Given the description of an element on the screen output the (x, y) to click on. 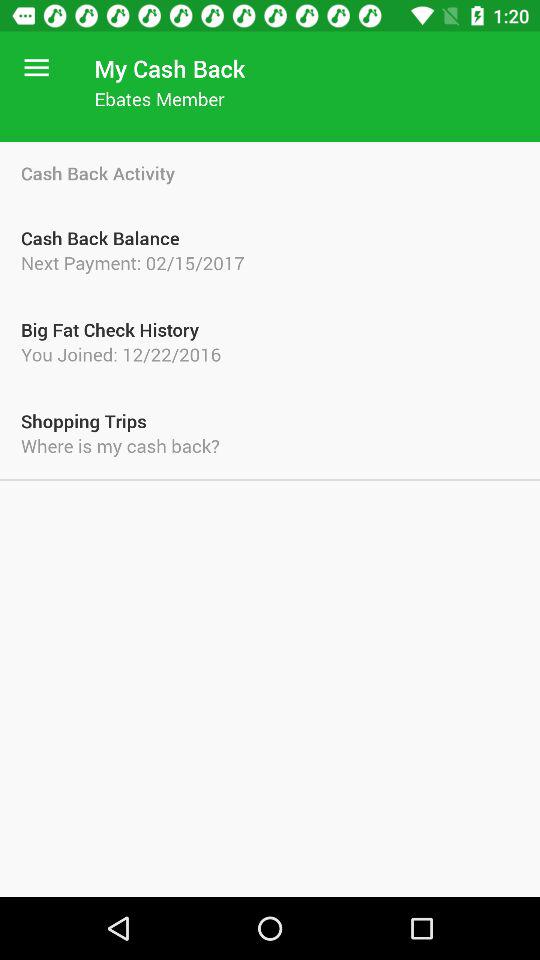
jump to next payment 02 item (270, 262)
